Given the description of an element on the screen output the (x, y) to click on. 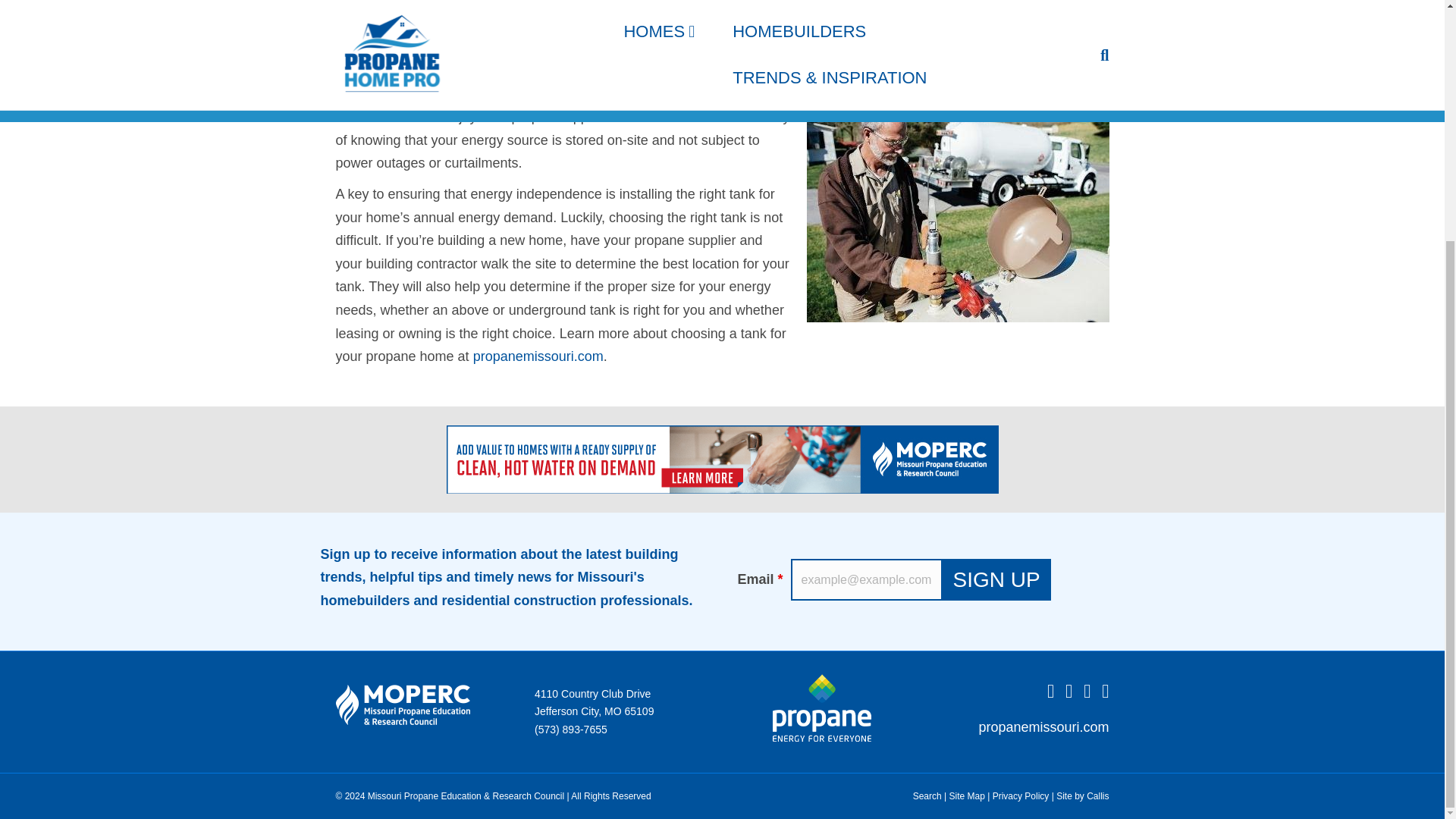
Callis (1097, 795)
Search (927, 795)
Privacy Policy (1020, 795)
propanemissouri.com (1043, 726)
propanemissouri.com (538, 355)
Sign Up (995, 579)
ad-moperc-clean-water-updated (721, 459)
Sign Up (995, 579)
Site Map (967, 795)
